Given the description of an element on the screen output the (x, y) to click on. 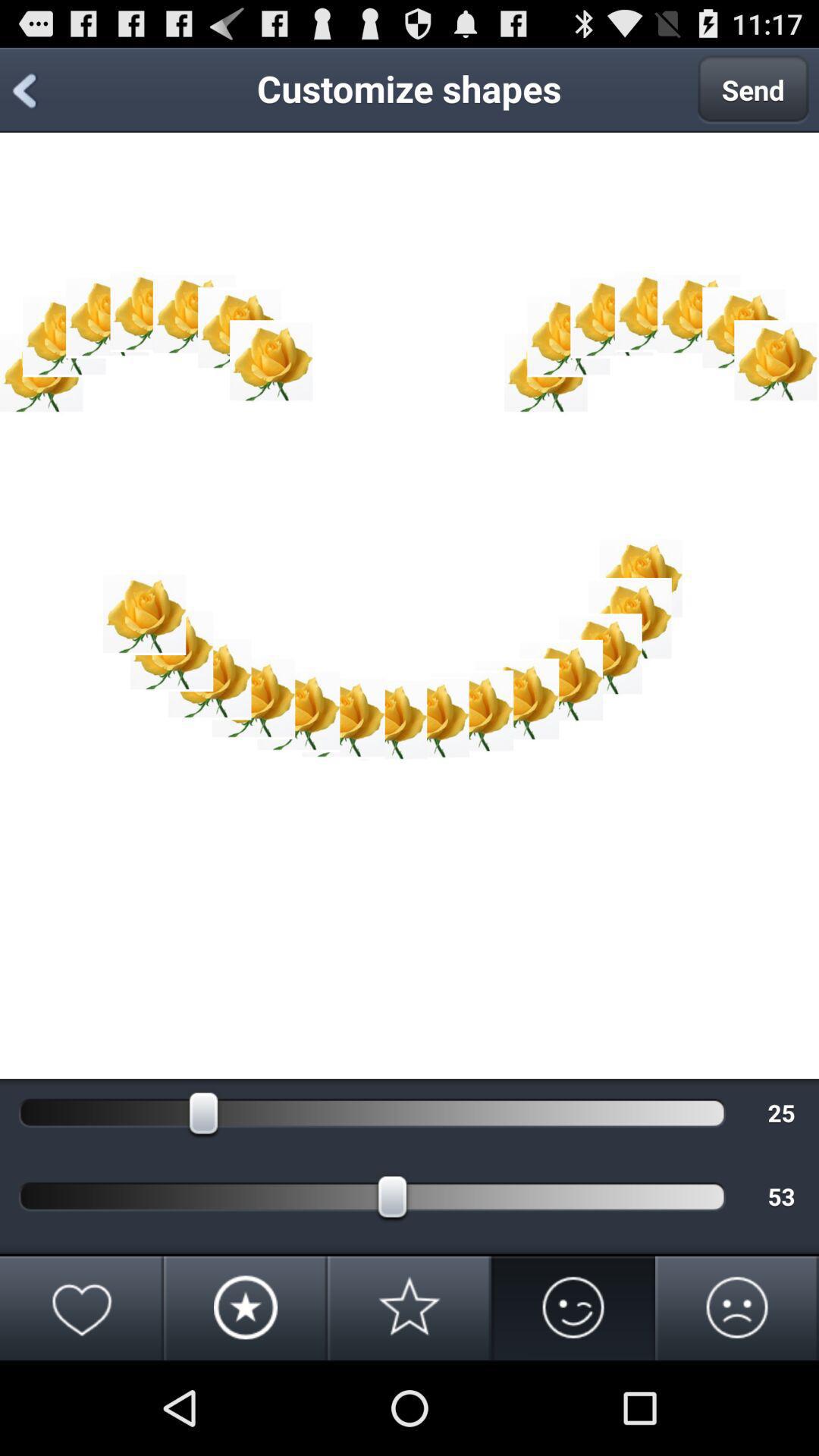
open the app to the right of customize shapes (752, 90)
